Given the description of an element on the screen output the (x, y) to click on. 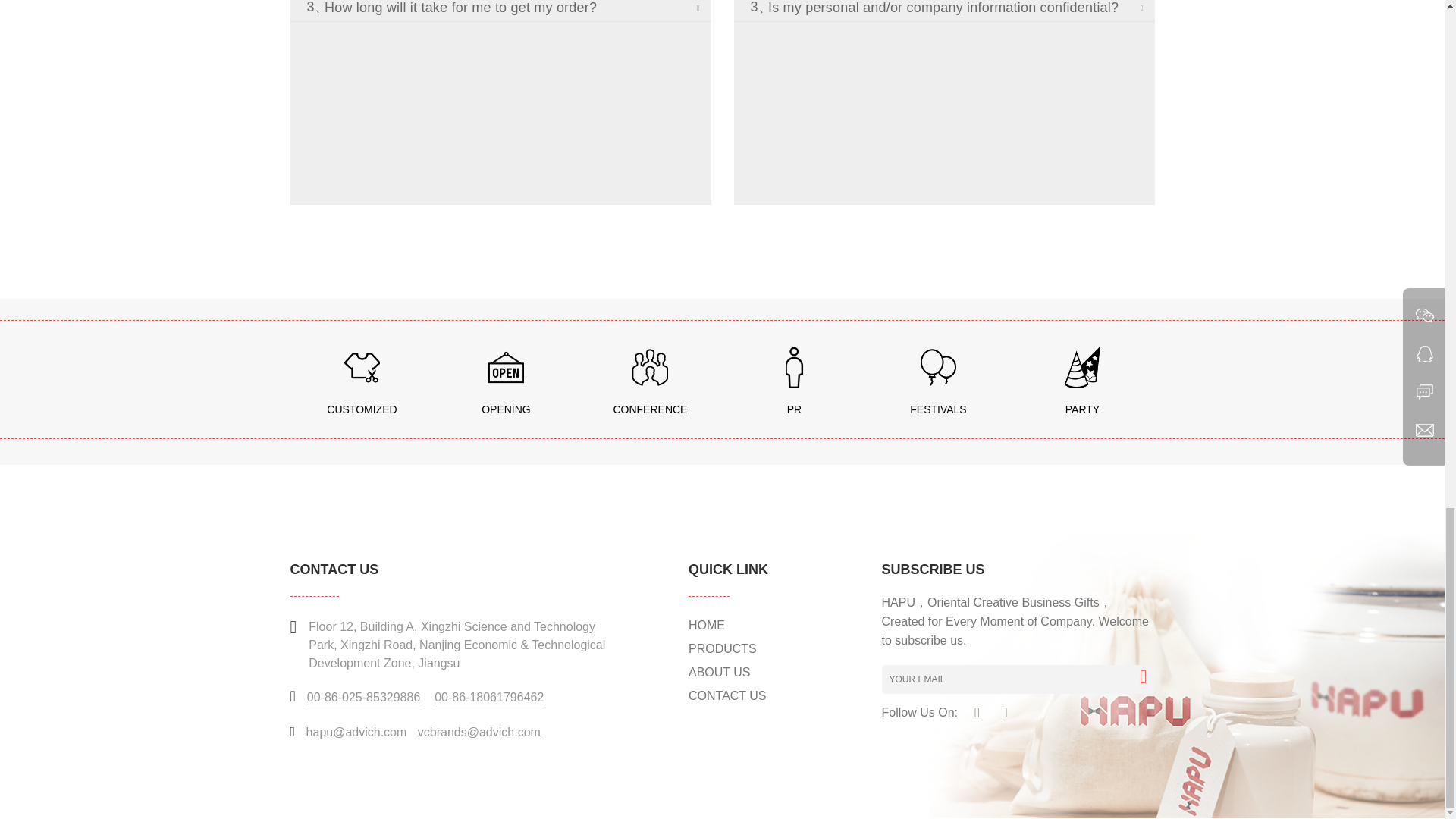
Share on Instagram (1004, 710)
Share on Facebook (977, 710)
How long will it take for me to get my order? (517, 10)
